Given the description of an element on the screen output the (x, y) to click on. 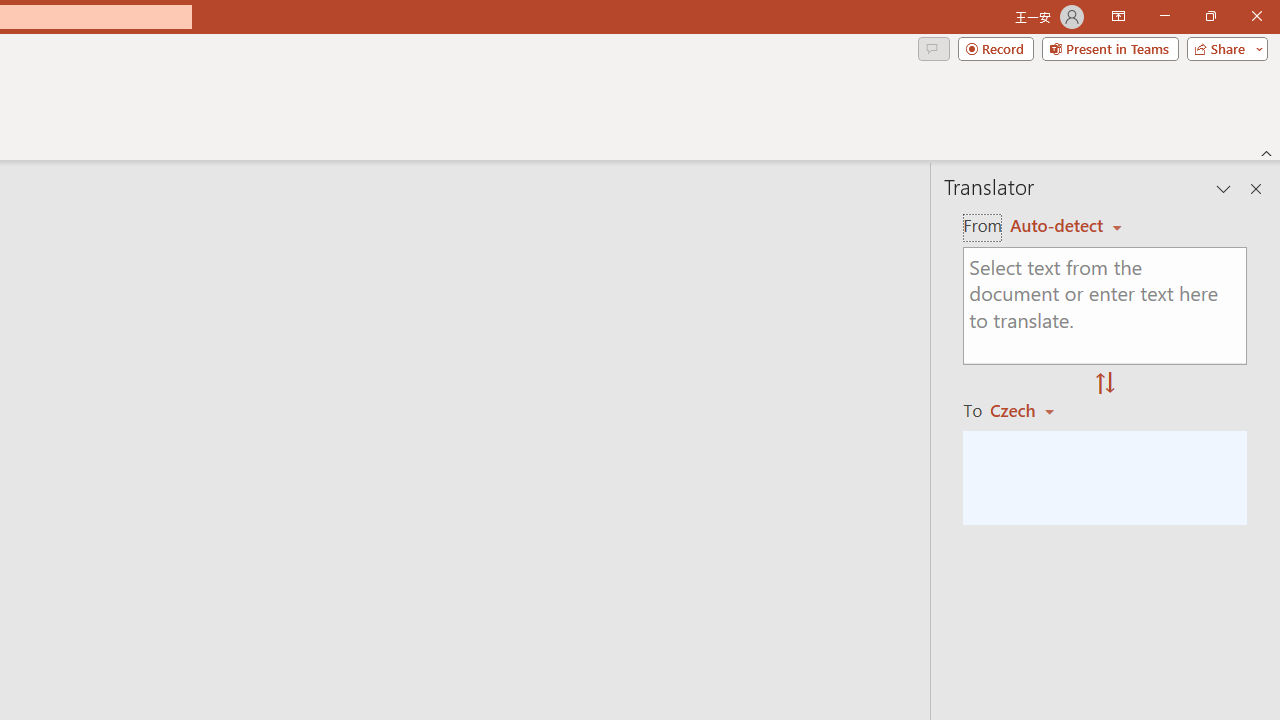
Swap "from" and "to" languages. (1105, 383)
